Given the description of an element on the screen output the (x, y) to click on. 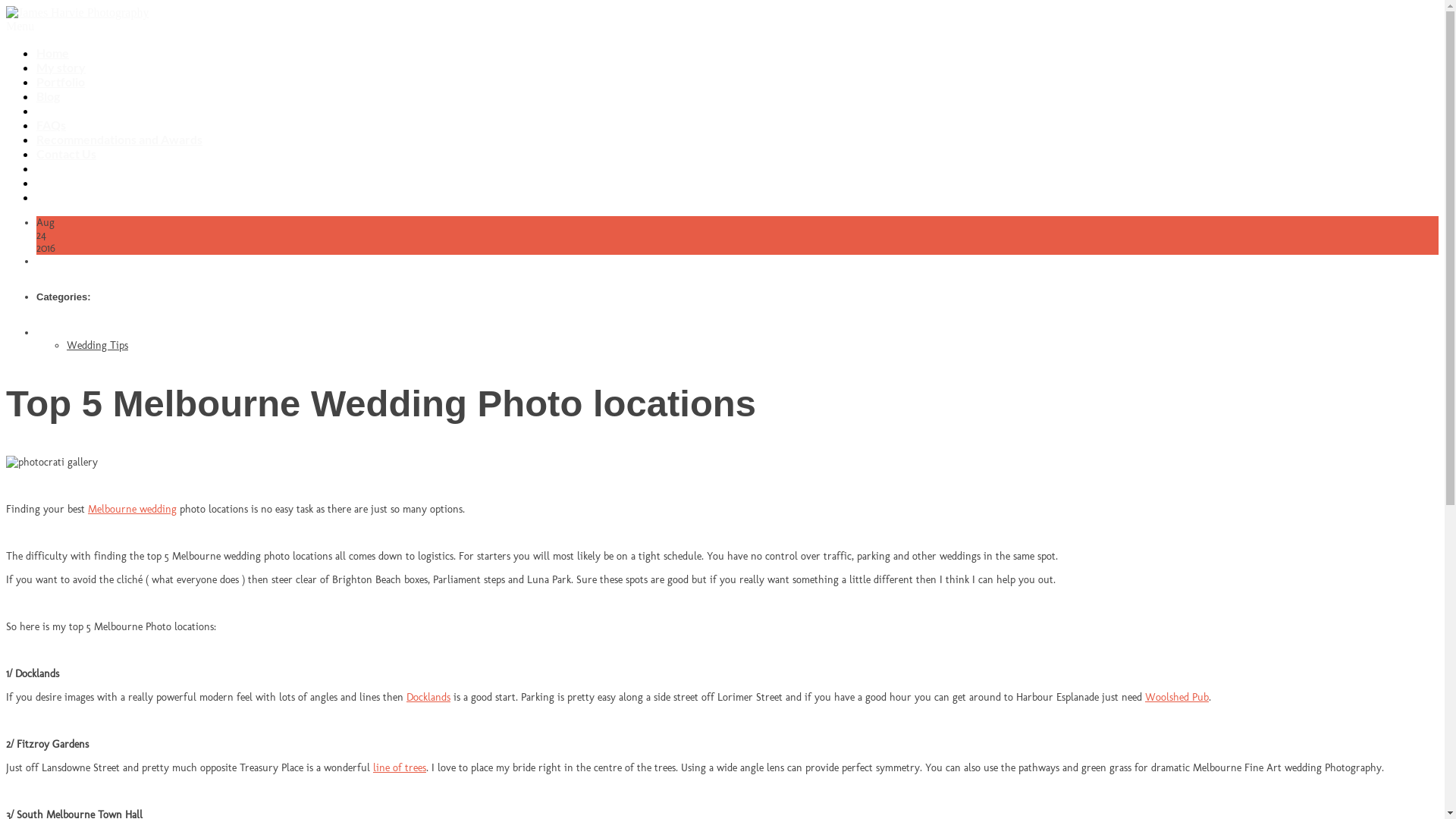
FAQs Element type: text (50, 124)
Recommendations and Awards Element type: text (119, 138)
Blog Element type: text (47, 95)
Menu Element type: text (20, 25)
Docklands Element type: text (428, 696)
Contact Us Element type: text (66, 153)
Wedding Tips Element type: text (97, 344)
My story Element type: text (60, 66)
line of trees Element type: text (399, 767)
Melbourne wedding Element type: text (131, 508)
Home Element type: text (52, 52)
Woolshed Pub Element type: text (1176, 696)
Portfolio Element type: text (60, 81)
